Given the description of an element on the screen output the (x, y) to click on. 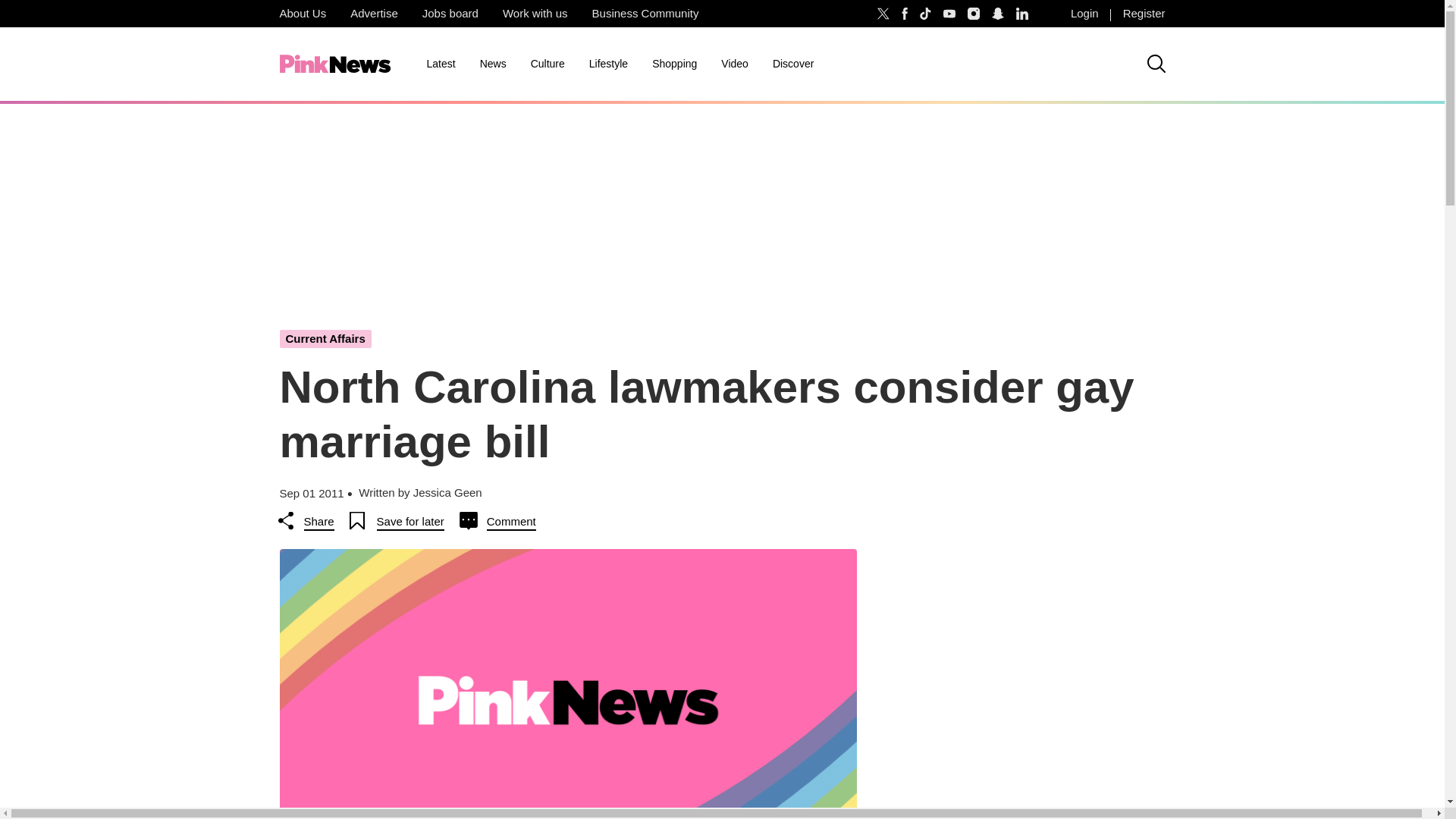
Advertise (373, 13)
Business Community (645, 13)
About Us (301, 13)
Follow PinkNews on LinkedIn (1021, 13)
Register (1143, 13)
Login (1084, 13)
Lifestyle (608, 63)
Jobs board (450, 13)
News (493, 63)
Latest (440, 63)
Work with us (534, 13)
Culture (547, 63)
